Given the description of an element on the screen output the (x, y) to click on. 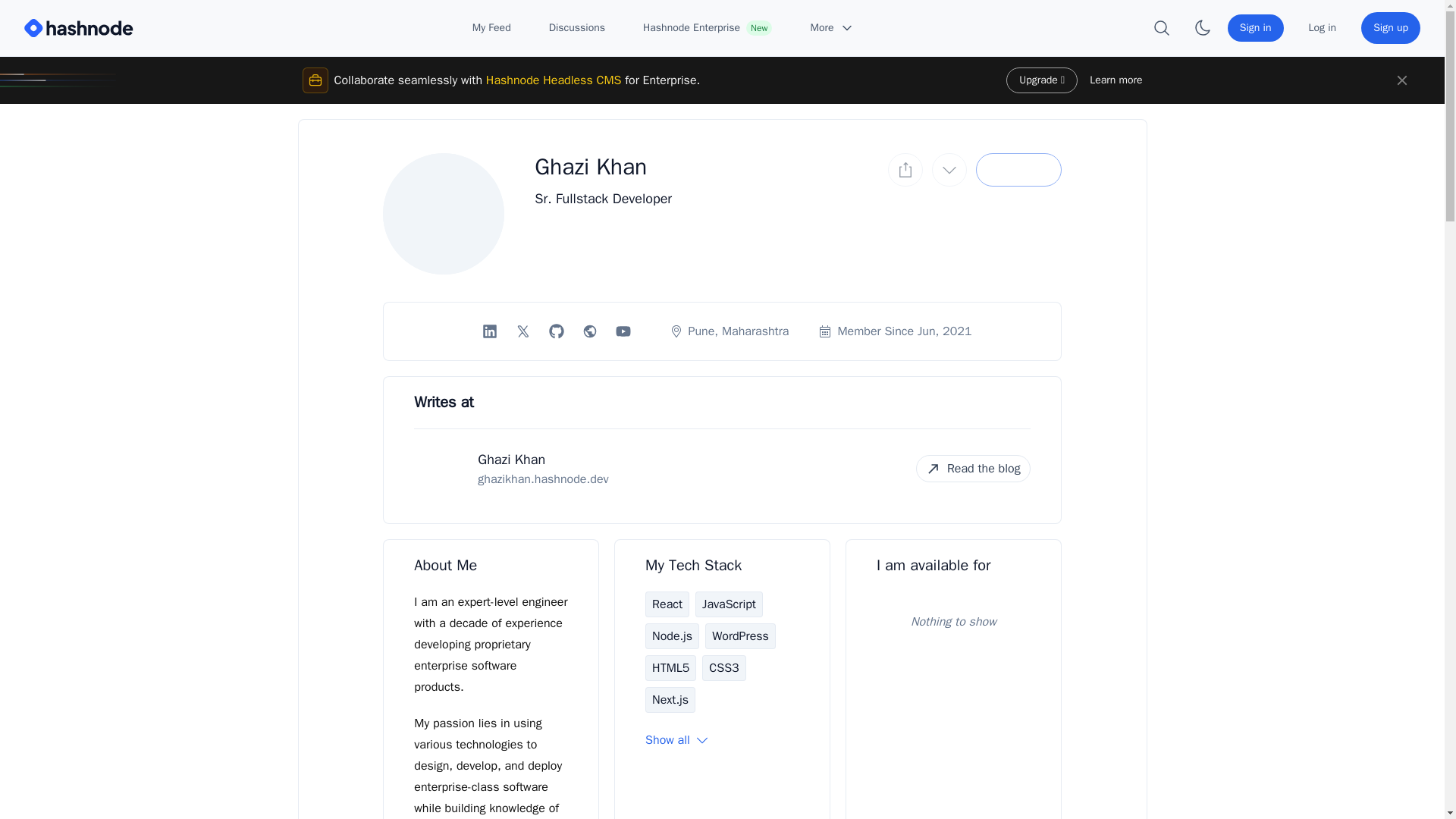
Follow (1018, 169)
CSS3 (723, 667)
More (831, 28)
My Feed (492, 28)
Ghazi Khan (590, 166)
Log in (1322, 28)
Next.js (670, 699)
Share Profile (905, 169)
Sign in (1255, 27)
Ghazi Khan (510, 459)
